Given the description of an element on the screen output the (x, y) to click on. 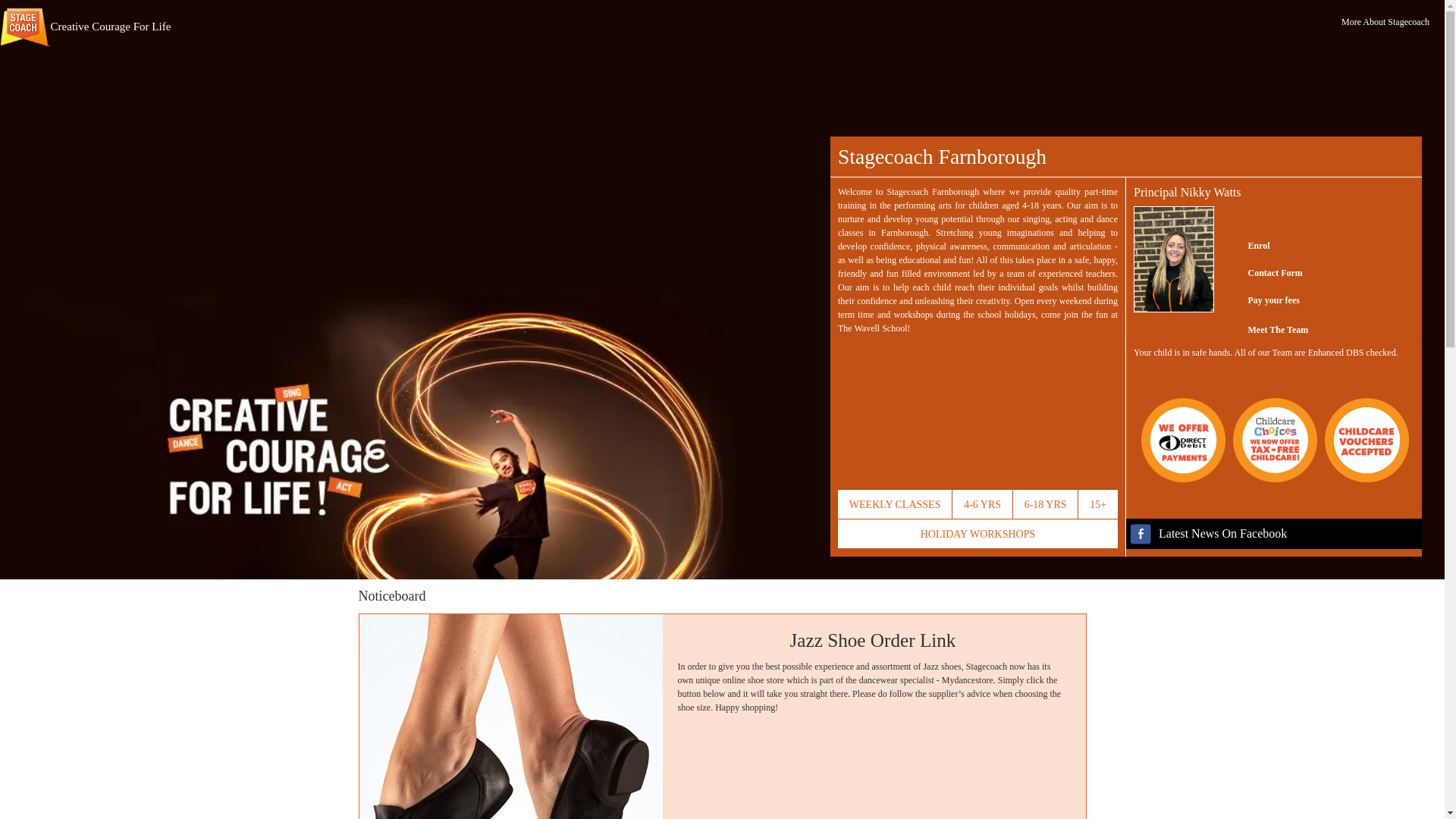
HOLIDAY WORKSHOPS (978, 533)
4-6 YRS (981, 503)
Creative Courage For Life (85, 23)
6-18 YRS (1045, 503)
More About Stagecoach (1384, 21)
WEEKLY CLASSES (895, 503)
Enrol (1245, 245)
Contact Form (1261, 273)
